Given the description of an element on the screen output the (x, y) to click on. 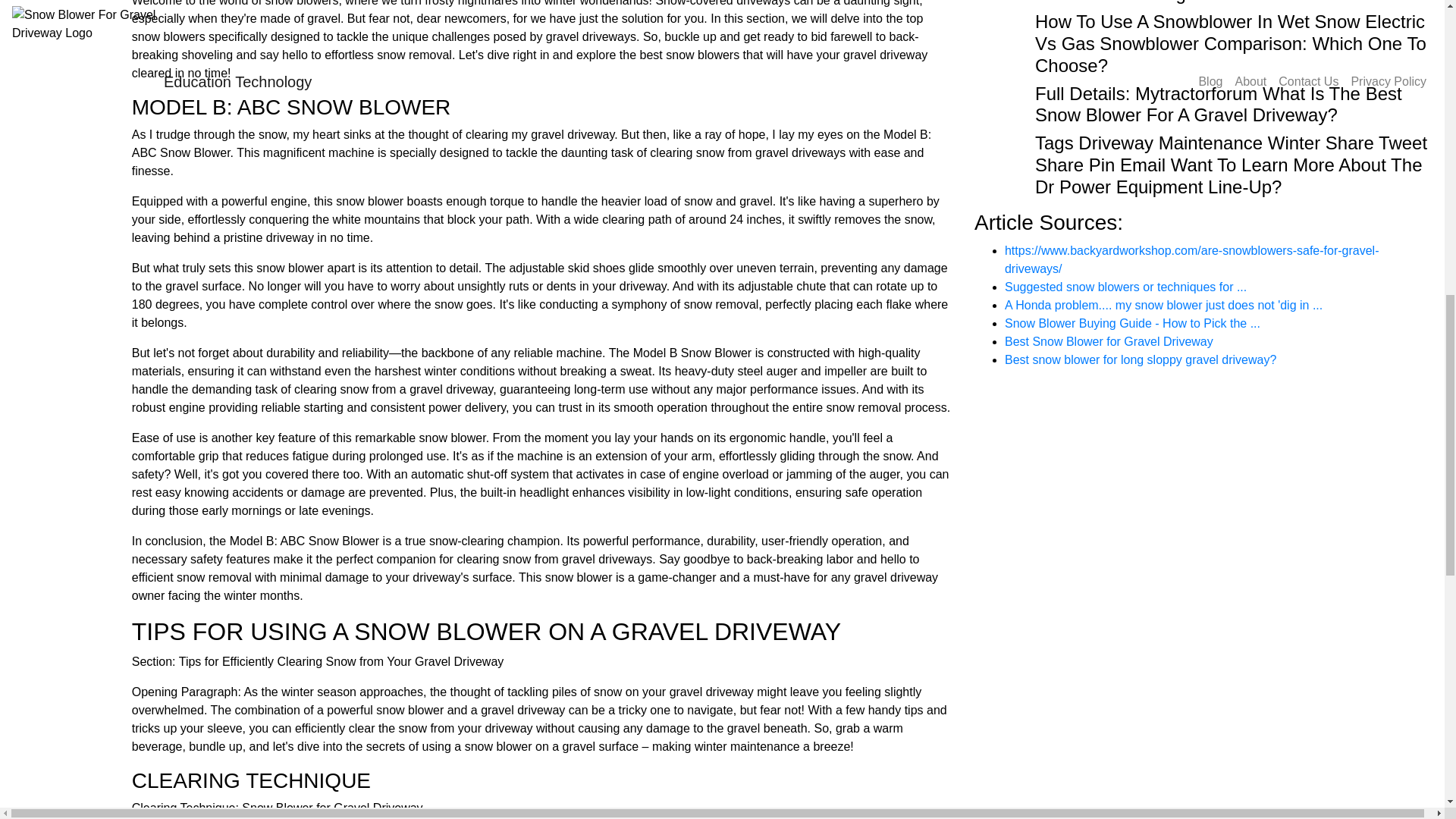
Best Snow Blower for Gravel Driveway (1108, 341)
Best snow blower for long sloppy gravel driveway? (1140, 359)
Snow Blower Buying Guide - How to Pick the ... (1132, 323)
Suggested snow blowers or techniques for ... (1125, 286)
A Honda problem.... my snow blower just does not 'dig in ... (1163, 305)
